Given the description of an element on the screen output the (x, y) to click on. 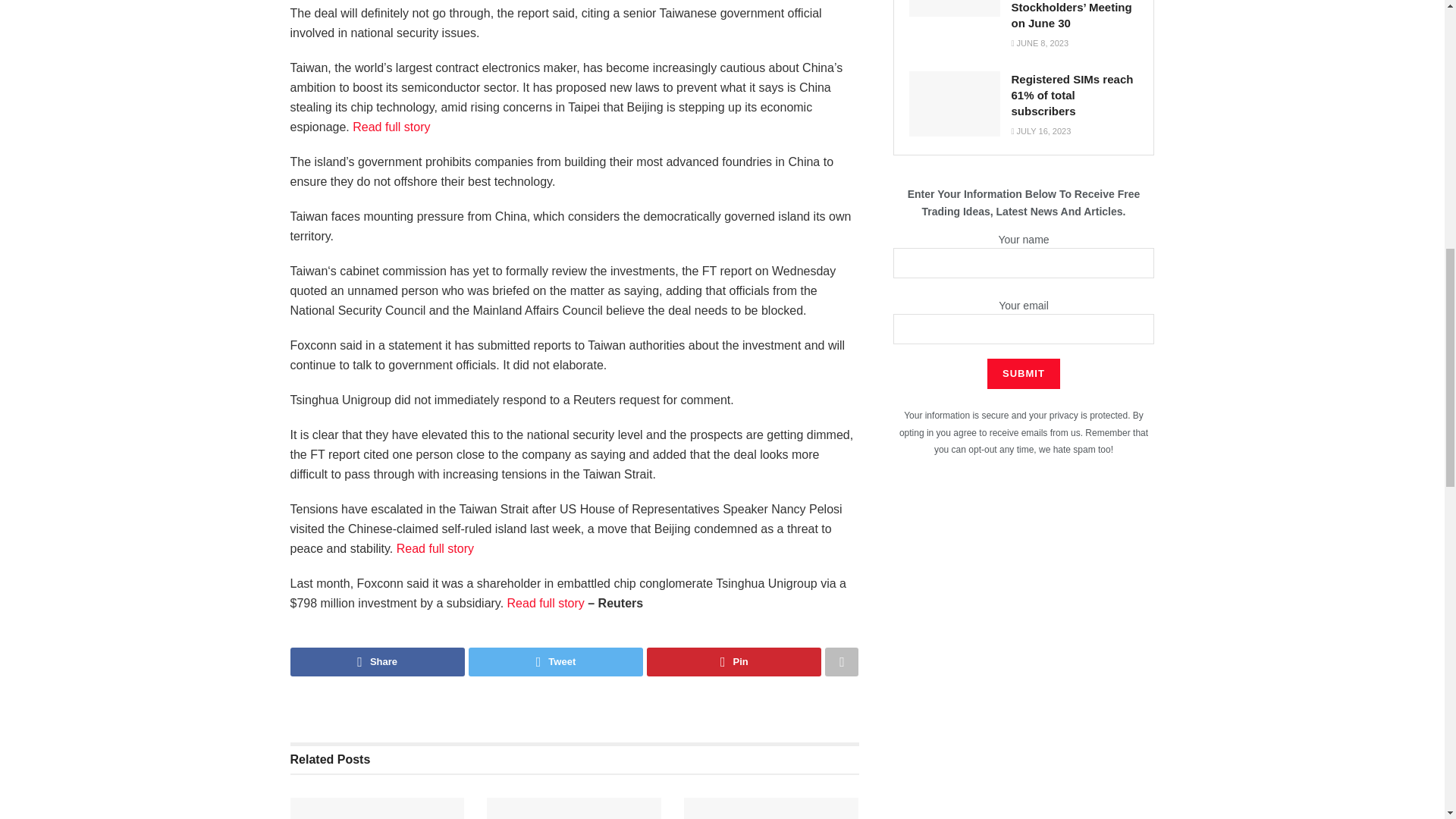
Submit (1023, 373)
